Given the description of an element on the screen output the (x, y) to click on. 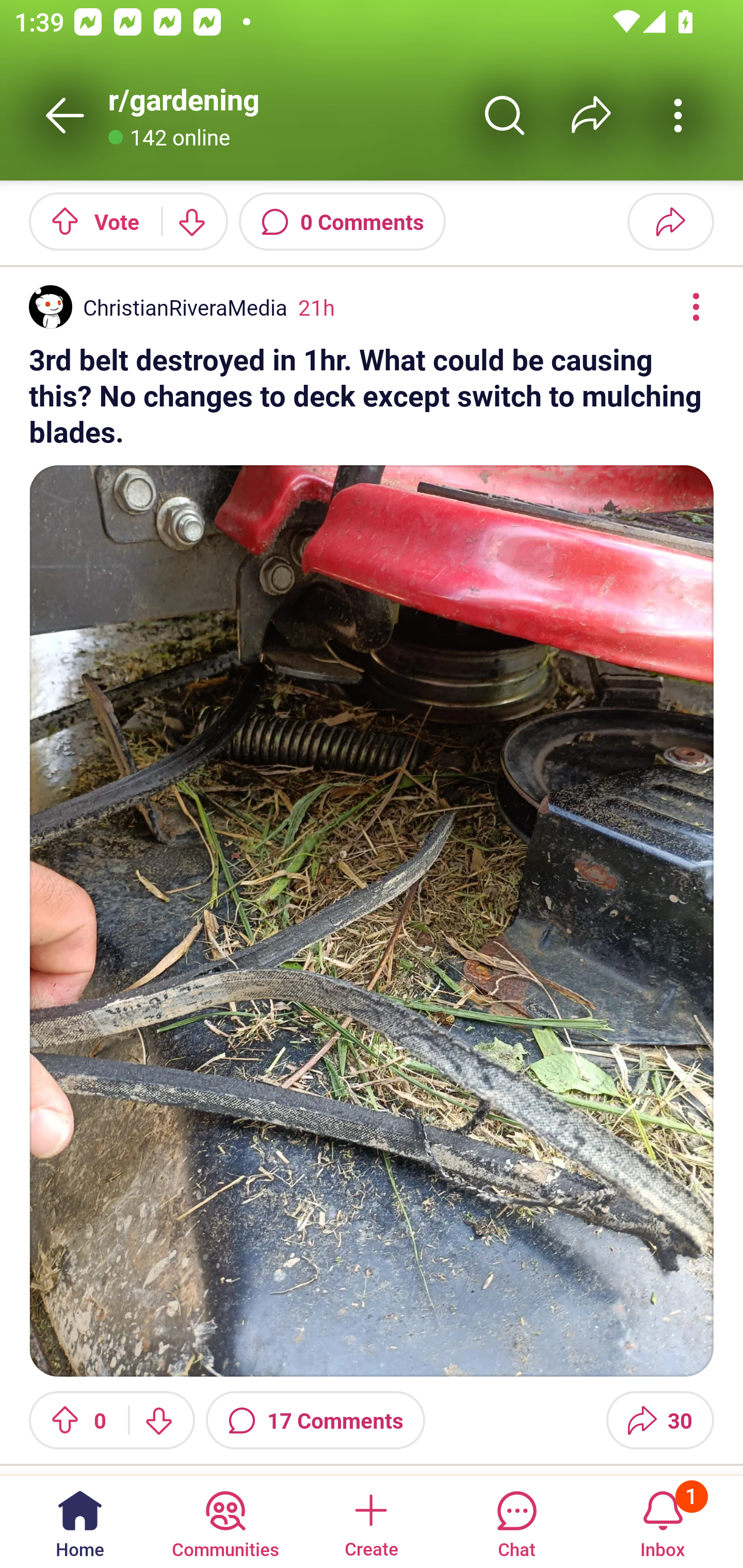
Back (64, 115)
Search r/﻿gardening (504, 115)
Share r/﻿gardening (591, 115)
More community actions (677, 115)
Home (80, 1520)
Communities (225, 1520)
Create a post Create (370, 1520)
Chat (516, 1520)
Inbox, has 1 notification 1 Inbox (662, 1520)
